Given the description of an element on the screen output the (x, y) to click on. 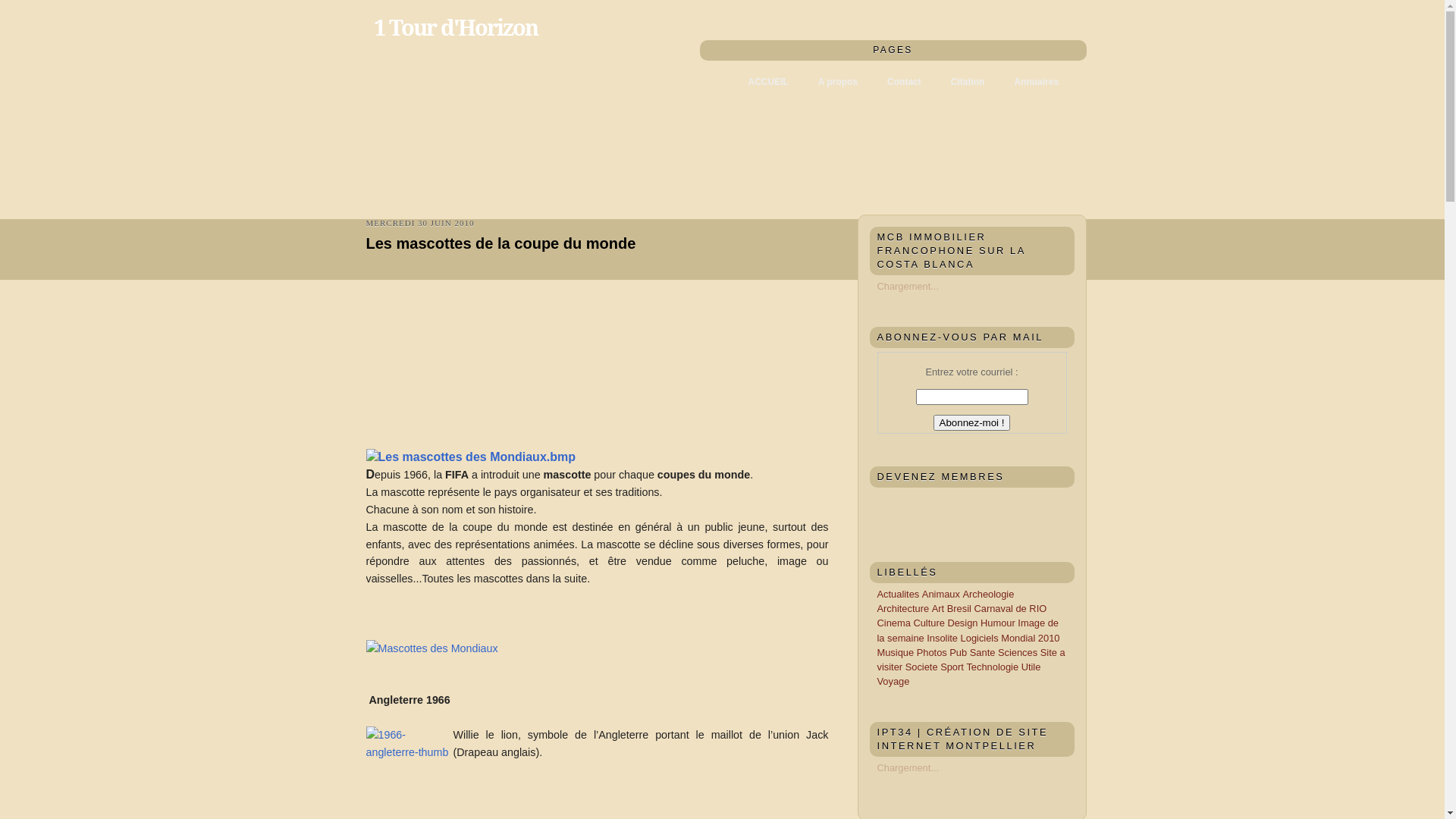
ACCUEIL Element type: text (768, 81)
Mondial 2010 Element type: text (1030, 637)
Contact Element type: text (903, 81)
Mascottes des Mondiaux Element type: hover (431, 648)
Carnaval de RIO Element type: text (1009, 608)
Advertisement Element type: hover (479, 351)
Image de la semaine Element type: text (966, 630)
Site a visiter Element type: text (970, 659)
Sante Element type: text (983, 652)
Insolite Element type: text (943, 637)
Utile Element type: text (1031, 666)
Humour Element type: text (998, 622)
Musique Element type: text (896, 652)
Design Element type: text (963, 622)
Societe Element type: text (922, 666)
Animaux Element type: text (942, 593)
Photos Element type: text (933, 652)
Actualites Element type: text (898, 593)
Advertisement Element type: hover (709, 351)
Les mascottes des Mondiaux.bmp Element type: hover (470, 457)
Cinema Element type: text (894, 622)
Culture Element type: text (930, 622)
Annuaires Element type: text (1036, 81)
Les mascottes de la coupe du monde Element type: text (596, 243)
Bresil Element type: text (960, 608)
Voyage Element type: text (892, 681)
Archeologie Element type: text (987, 593)
Technologie Element type: text (993, 666)
A propos Element type: text (837, 81)
Chargement... Element type: text (907, 767)
Abonnez-moi ! Element type: text (971, 422)
Chargement... Element type: text (907, 285)
Sport Element type: text (953, 666)
Pub Element type: text (959, 652)
Architecture Element type: text (903, 608)
Logiciels Element type: text (980, 637)
1 Tour d'Horizon Element type: text (454, 27)
Art Element type: text (939, 608)
Sciences Element type: text (1018, 652)
Citation Element type: text (967, 81)
